Given the description of an element on the screen output the (x, y) to click on. 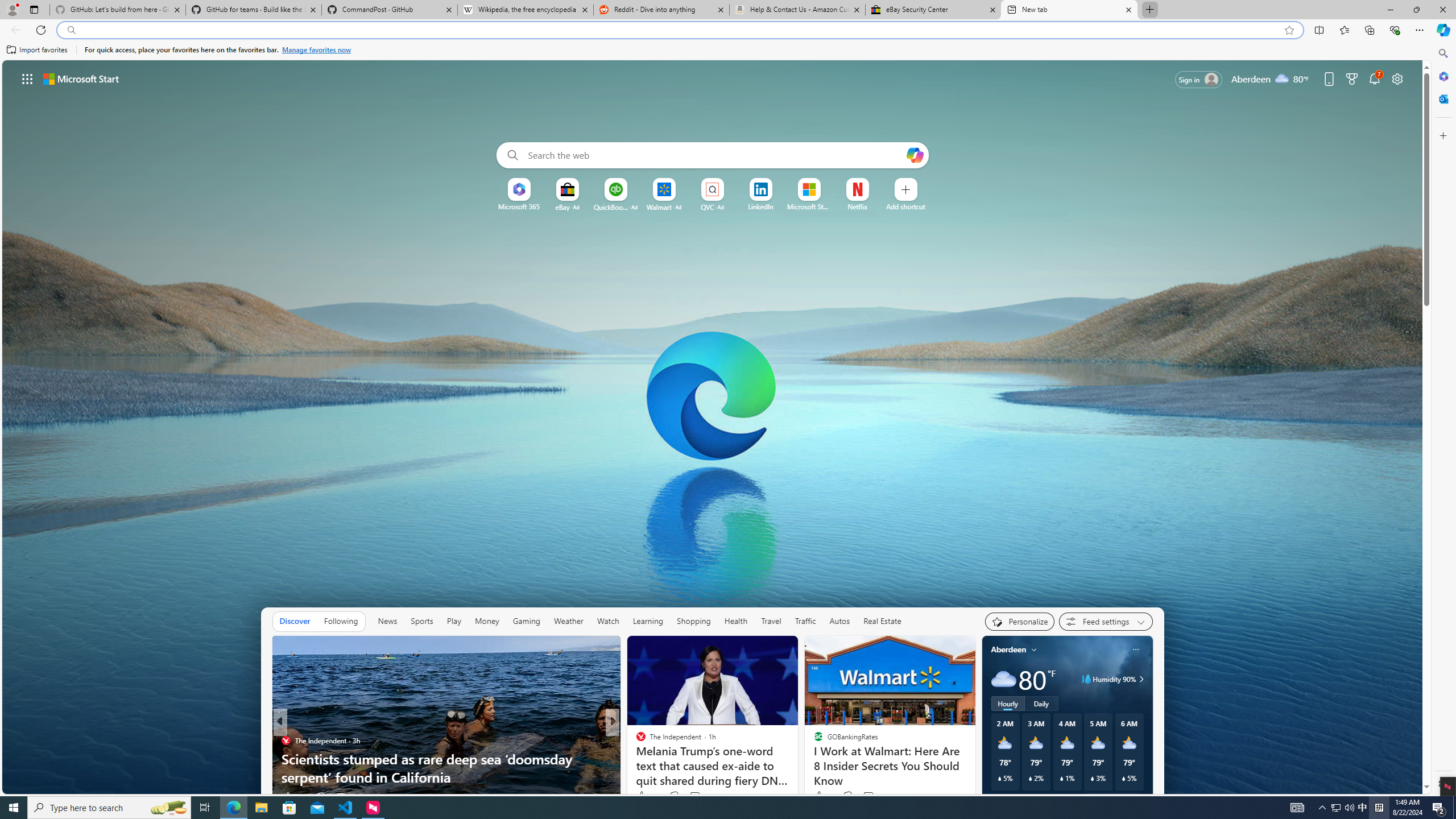
295 Like (643, 796)
Click to sign into Microsoft Edge (1198, 79)
424 Like (646, 795)
2k Like (822, 795)
Add a site (906, 206)
